Given the description of an element on the screen output the (x, y) to click on. 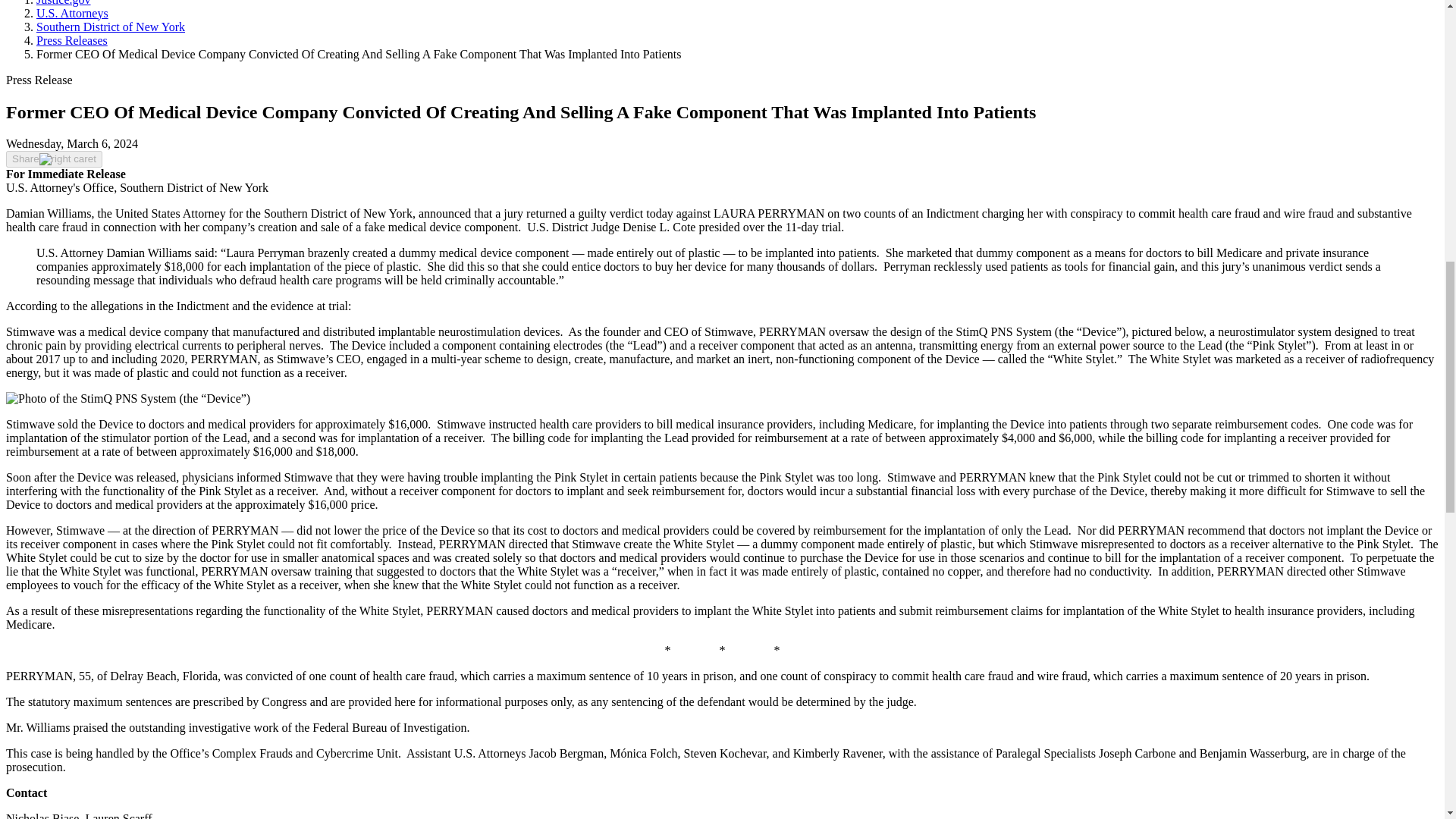
U.S. Attorneys (71, 12)
Southern District of New York (110, 26)
Justice.gov (63, 2)
Press Releases (71, 40)
Share (53, 158)
